Given the description of an element on the screen output the (x, y) to click on. 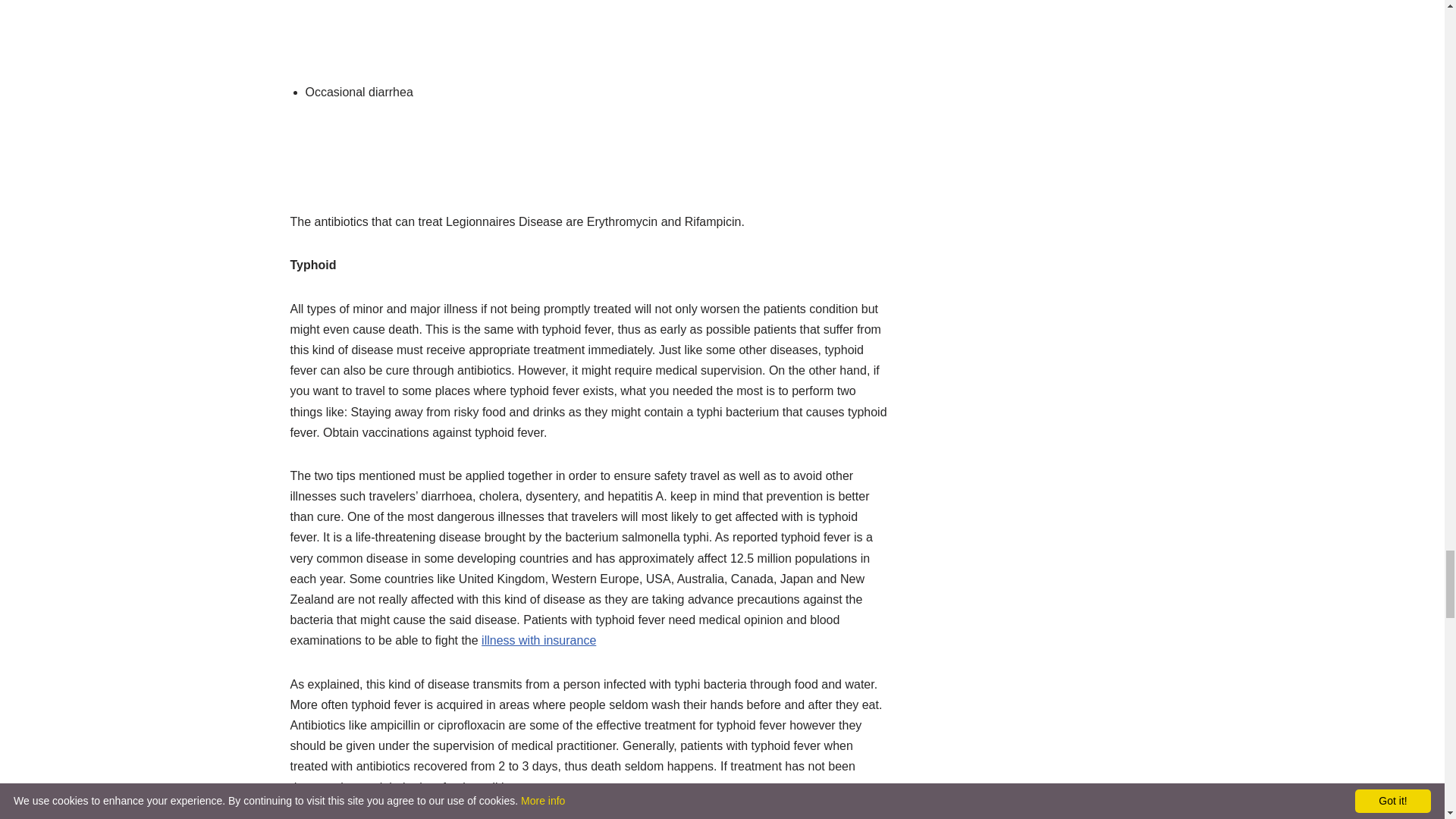
illness with insurance (538, 640)
